Given the description of an element on the screen output the (x, y) to click on. 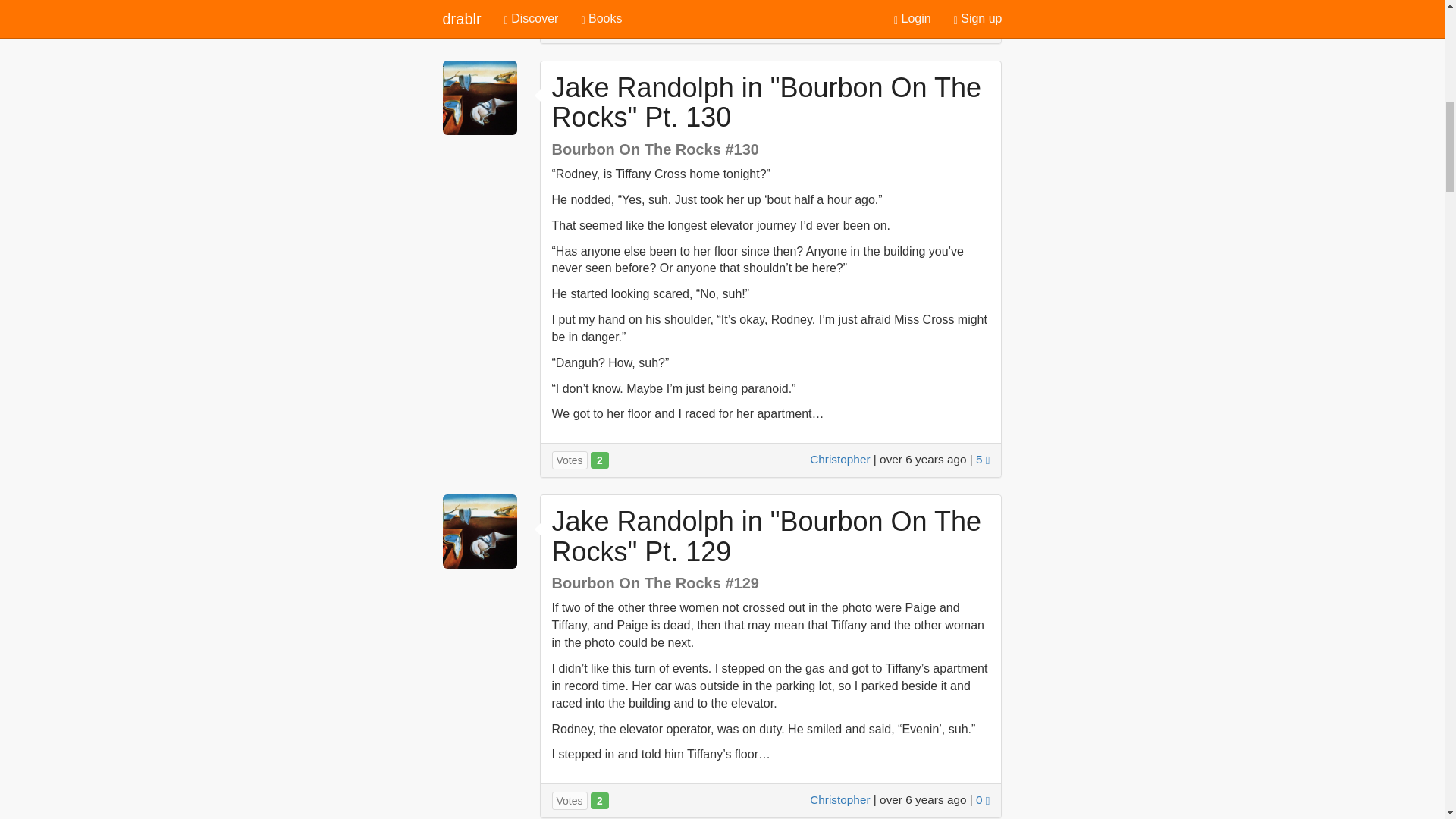
Votes (569, 460)
0 (982, 24)
0 (982, 799)
Comments (982, 459)
Comments (982, 799)
5 (982, 459)
Votes (569, 26)
Votes (569, 800)
Christopher (839, 799)
Christopher (839, 459)
Christopher (839, 24)
Comments (982, 24)
Jake Randolph in "Bourbon On The Rocks" Pt. 130 (766, 102)
Jake Randolph in "Bourbon On The Rocks" Pt. 129 (766, 536)
